Given the description of an element on the screen output the (x, y) to click on. 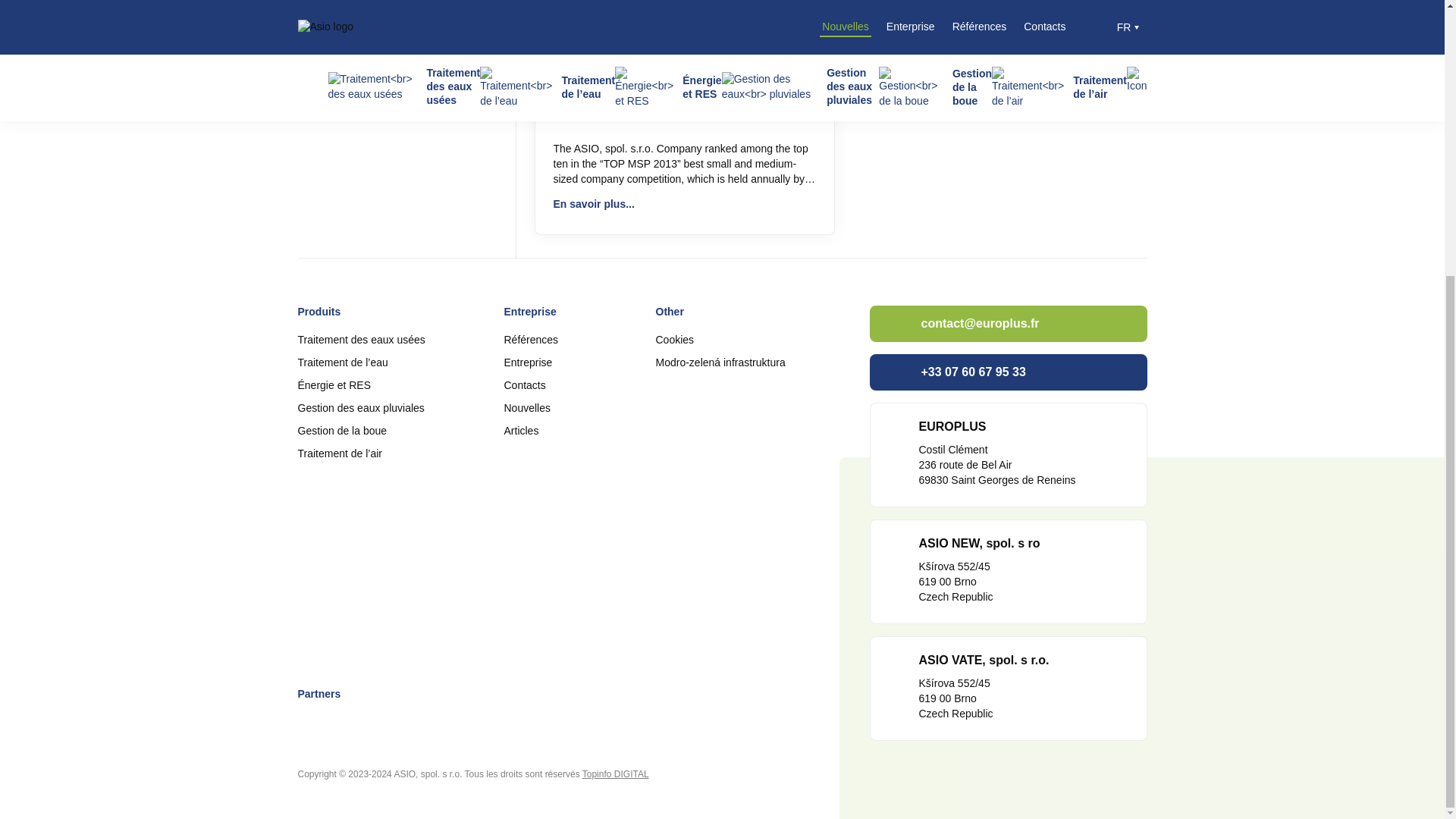
Digital solutions for your growth (615, 774)
En savoir plus... (684, 22)
